Given the description of an element on the screen output the (x, y) to click on. 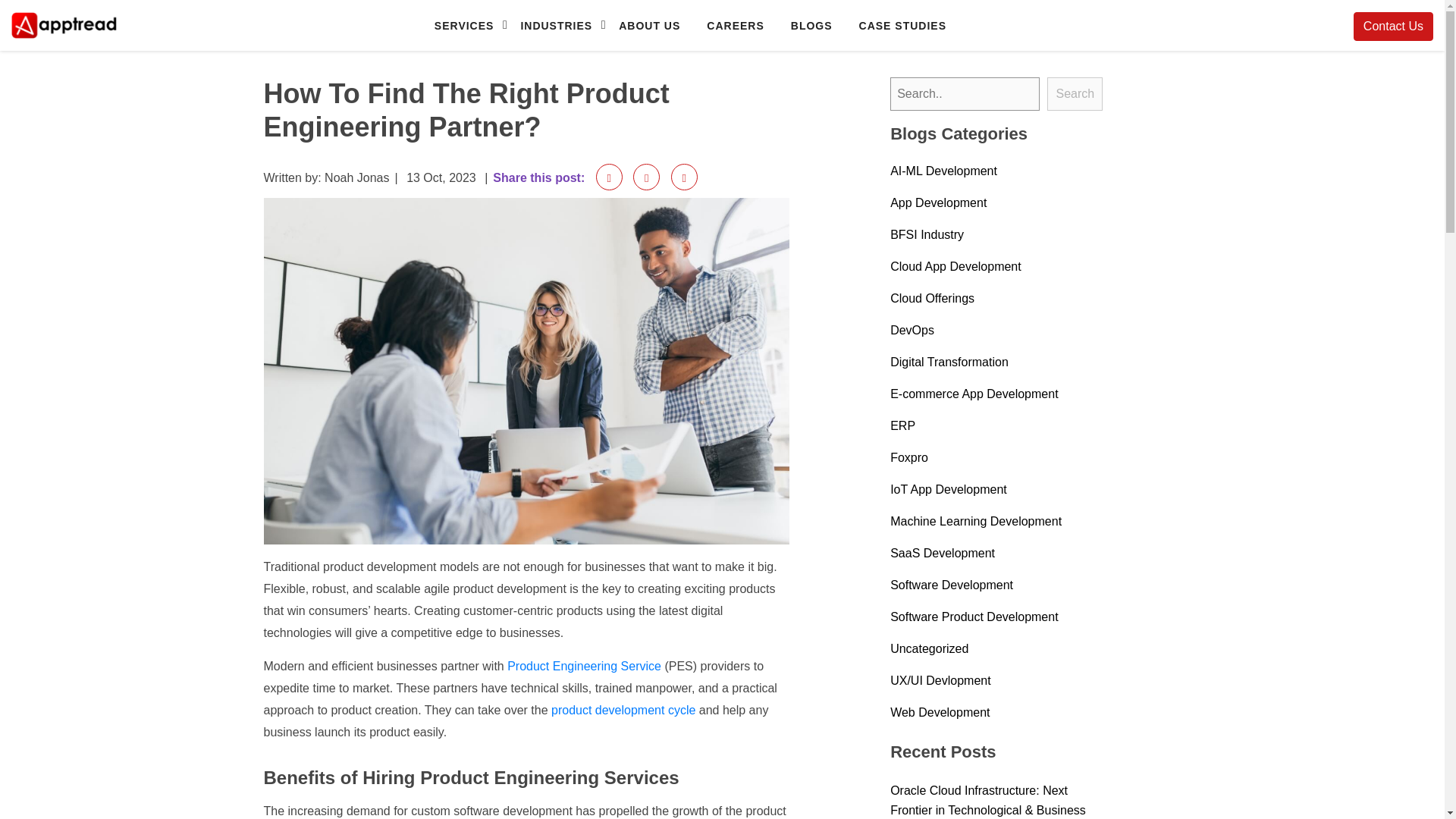
SERVICES (463, 24)
Contact Us (1393, 26)
Apptread (36, 48)
